Given the description of an element on the screen output the (x, y) to click on. 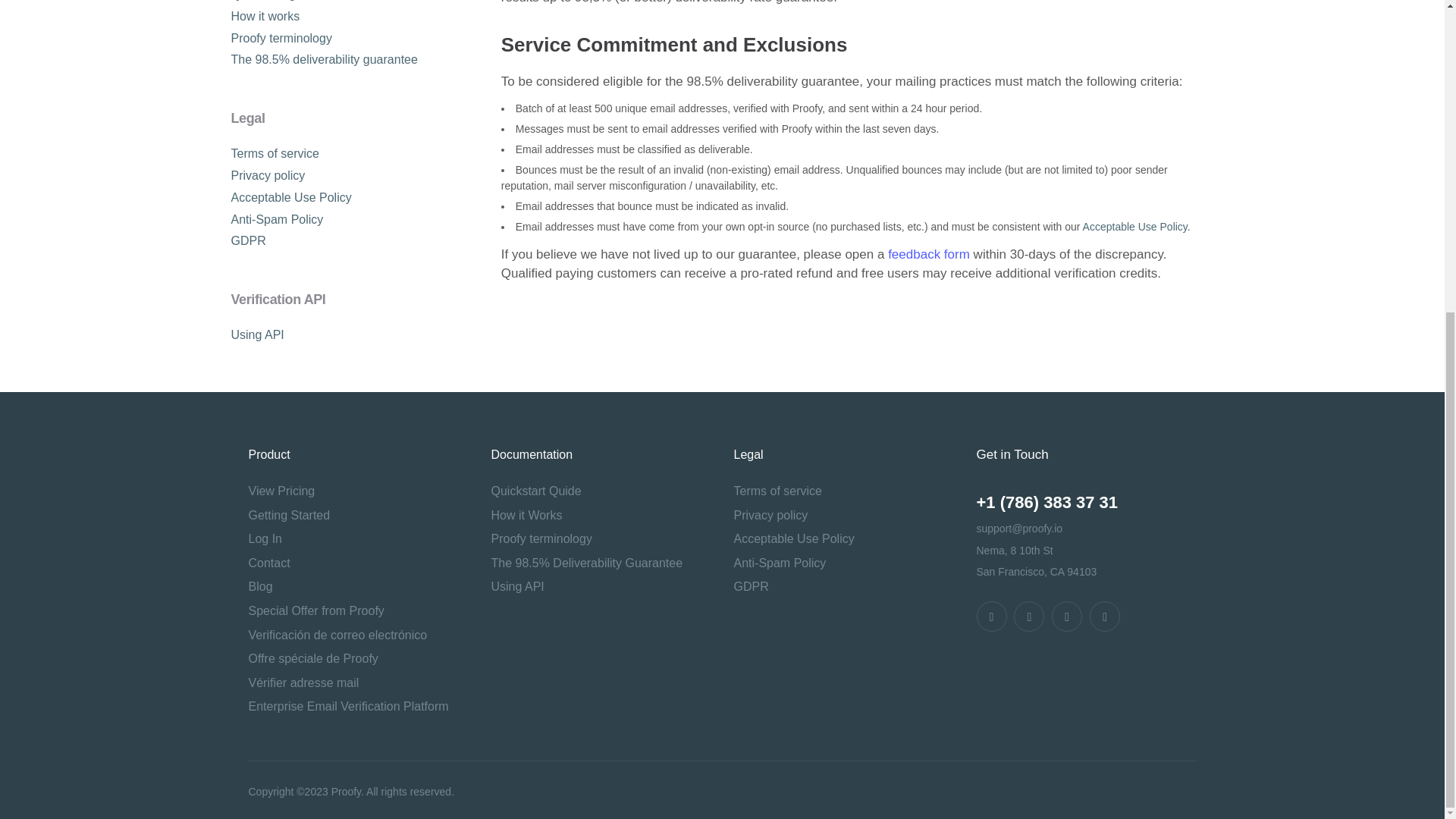
Proofy terminology (280, 38)
Privacy policy (267, 174)
GDPR (247, 240)
Anti-Spam Policy (276, 219)
Using API (256, 334)
Terms of service (274, 153)
Acceptable Use Policy (290, 196)
How it works (264, 15)
